Given the description of an element on the screen output the (x, y) to click on. 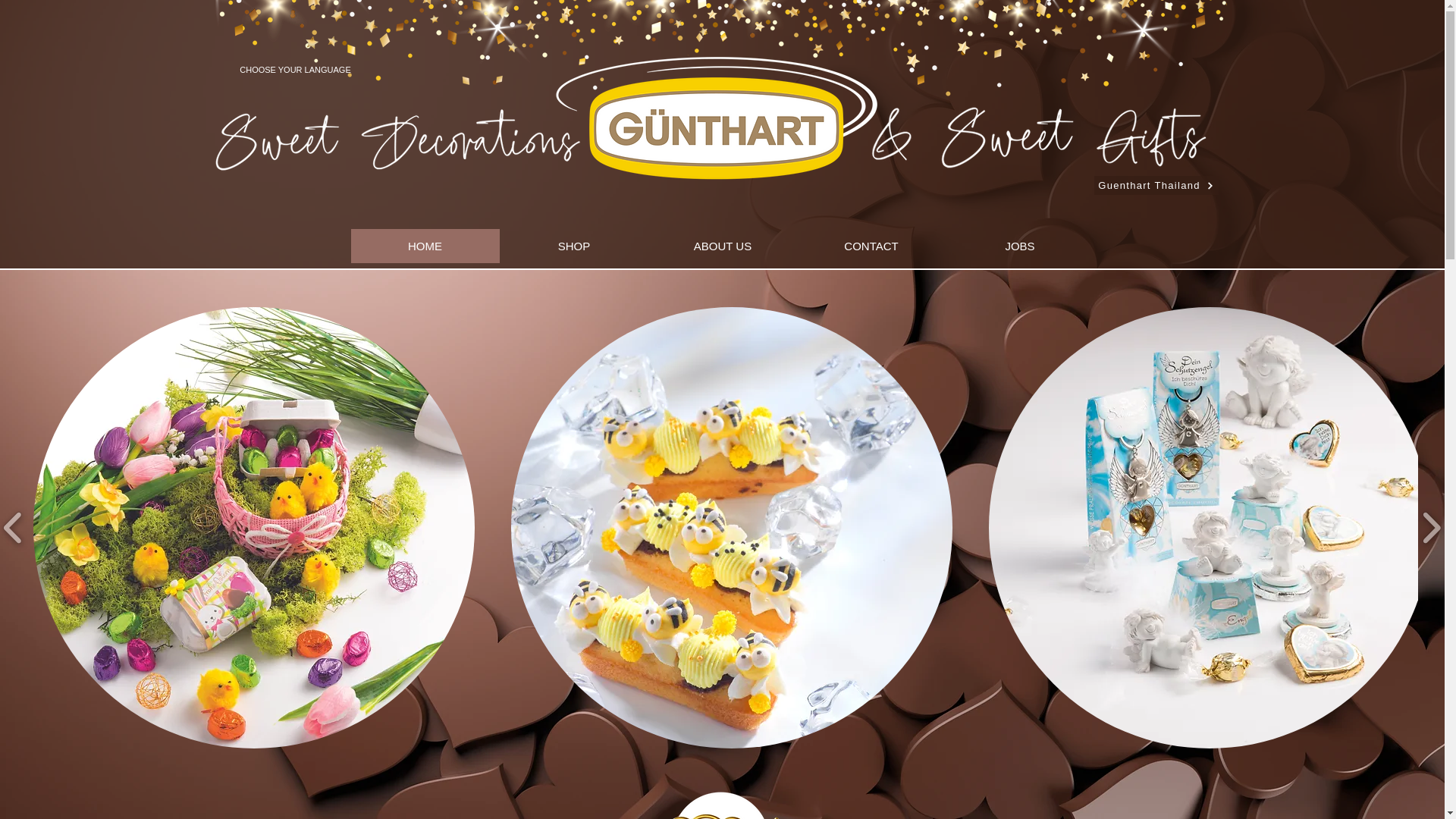
CONTACT (870, 245)
JOBS (1018, 245)
ABOUT US (721, 245)
HOME (424, 245)
SHOP (573, 245)
year.png (717, 791)
Guenthart Thailand (1155, 185)
